Given the description of an element on the screen output the (x, y) to click on. 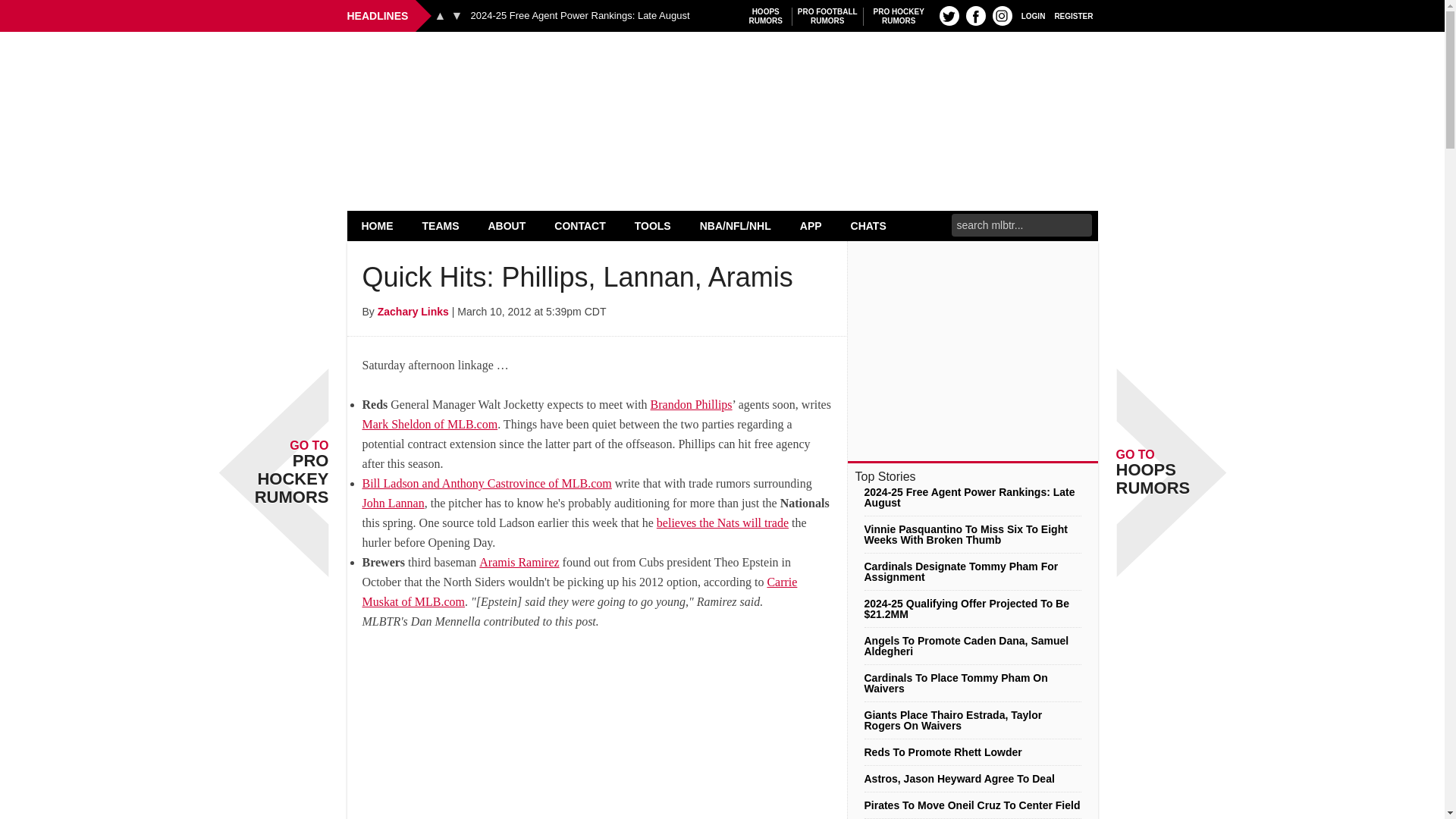
Next (456, 15)
REGISTER (1073, 15)
HOME (377, 225)
Twitter profile (949, 15)
Previous (765, 16)
FB profile (439, 15)
LOGIN (975, 15)
Instagram profile (827, 16)
